Given the description of an element on the screen output the (x, y) to click on. 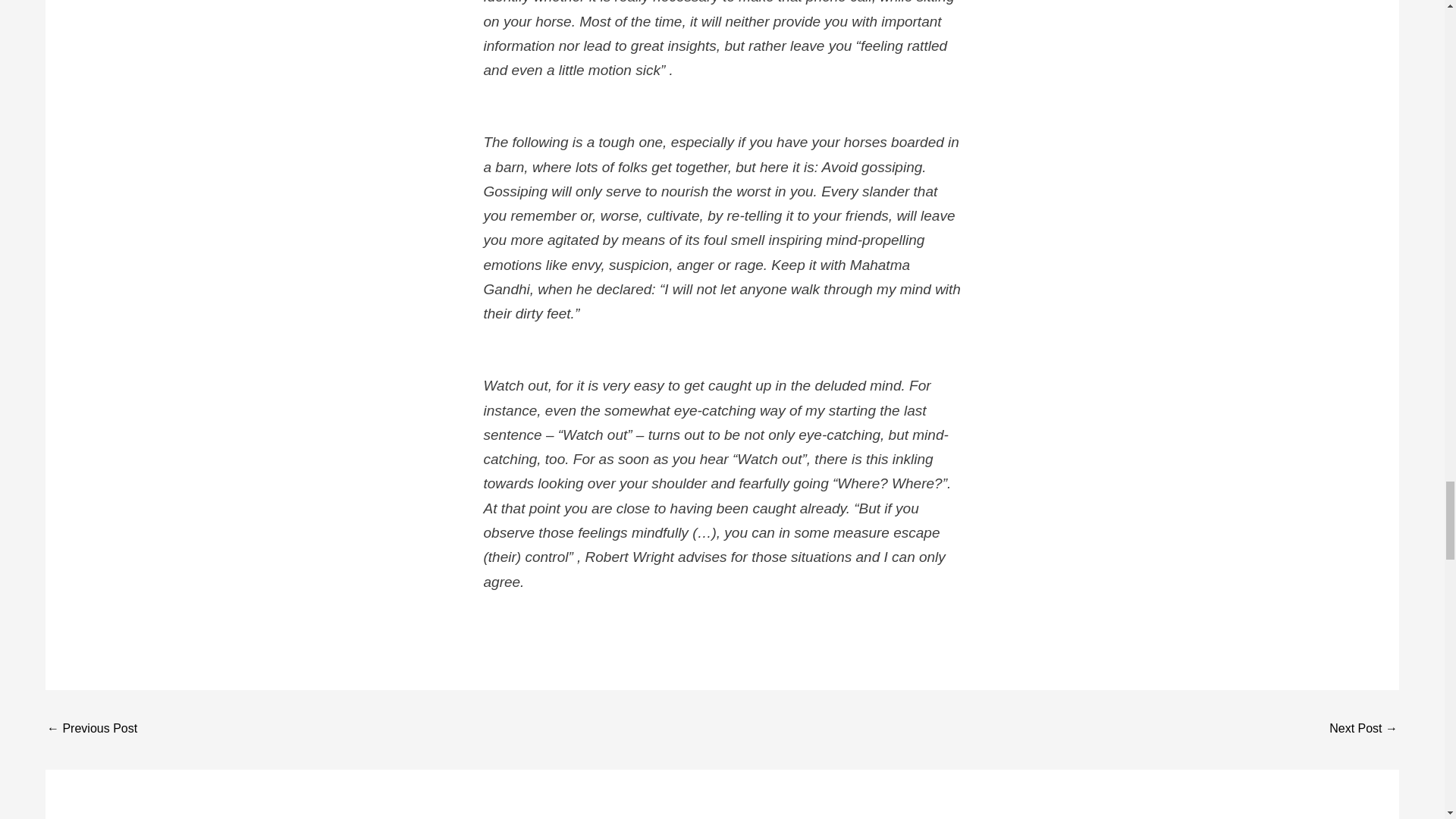
Road Rage by Hans-Michael Schoebinger (1363, 729)
Trying Hard by Hans-Michael Schoebinger (91, 729)
